Given the description of an element on the screen output the (x, y) to click on. 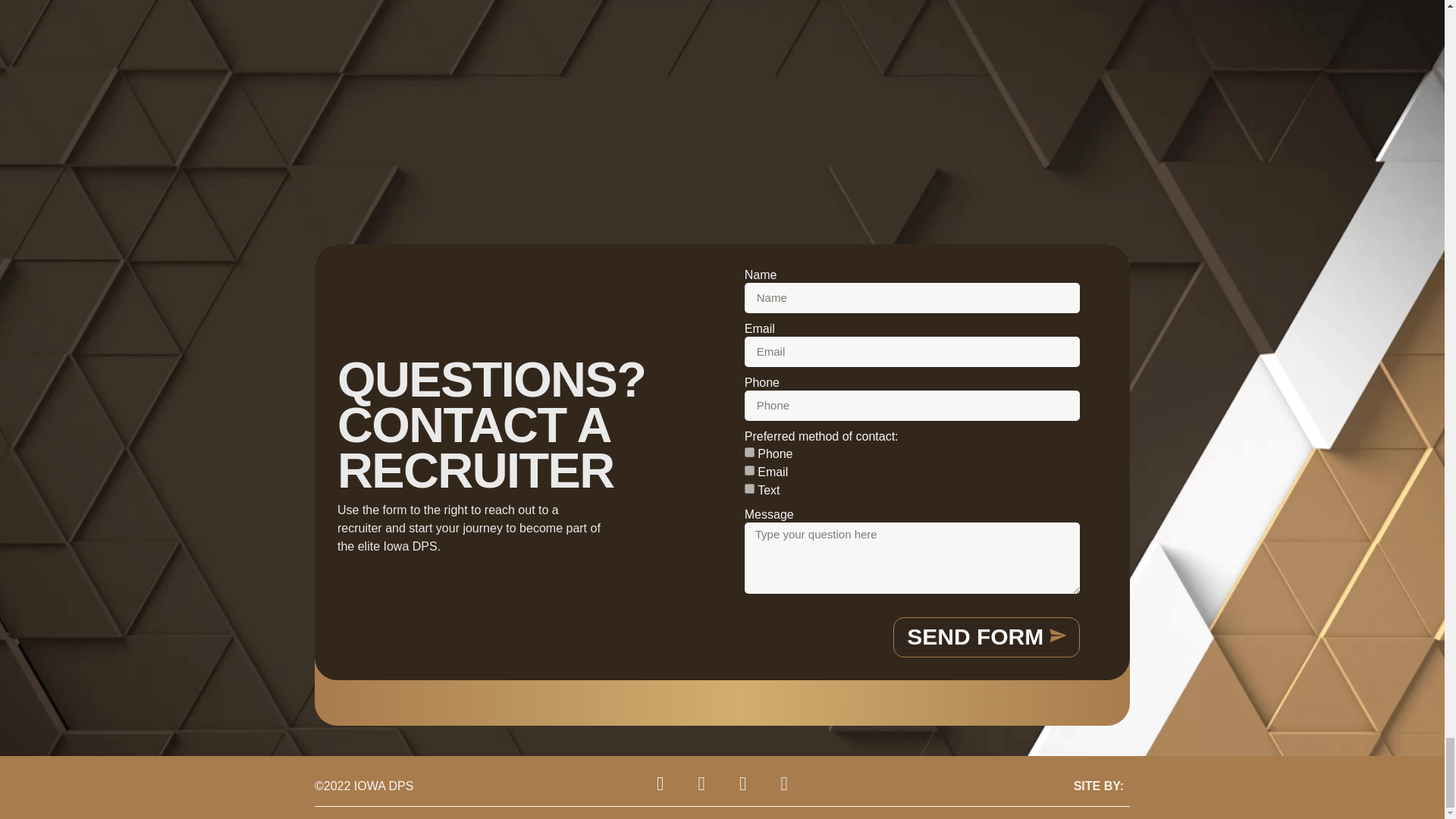
Email (749, 470)
Phone (749, 452)
Text (749, 488)
